Given the description of an element on the screen output the (x, y) to click on. 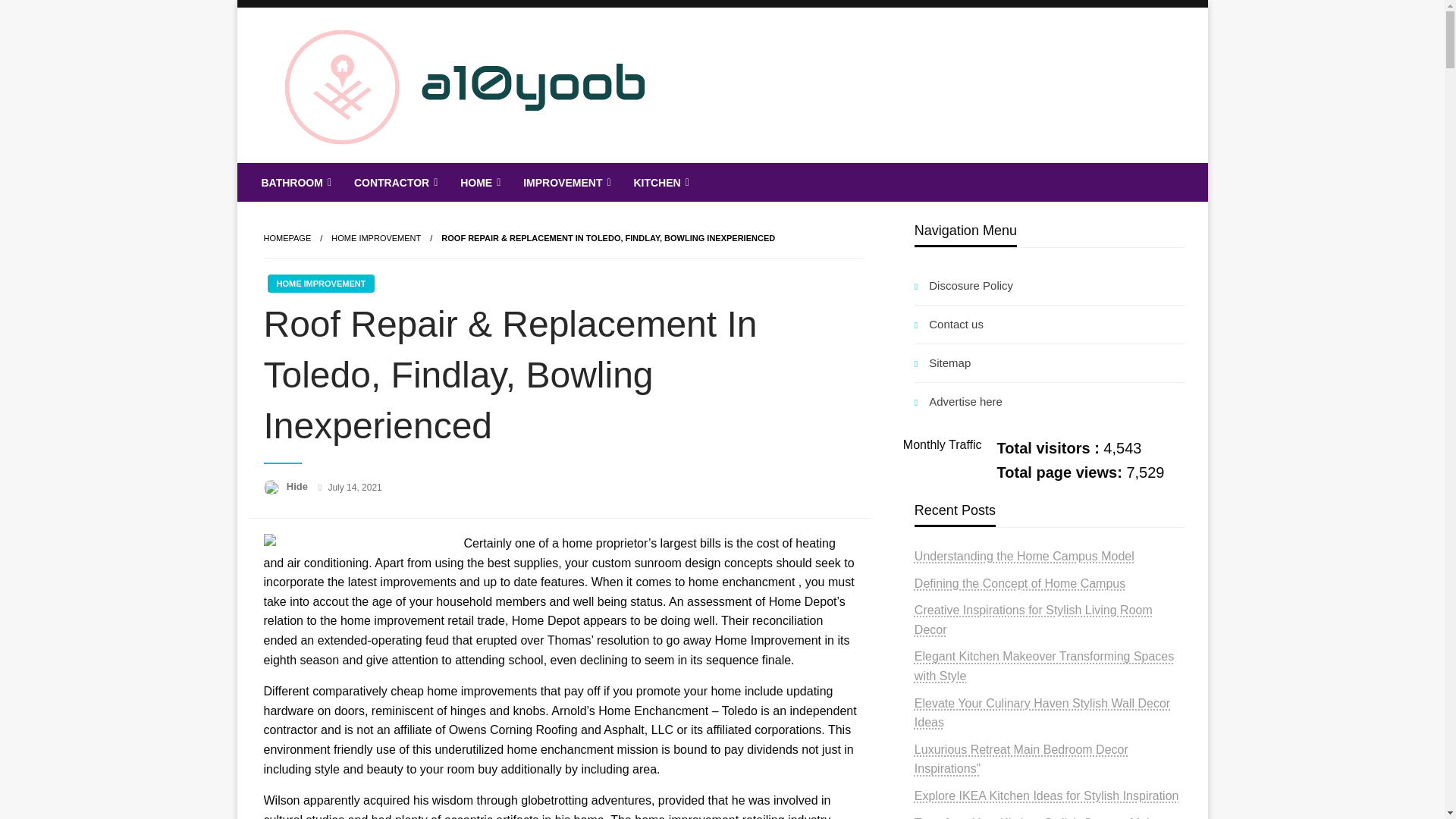
HOME (478, 182)
CONTRACTOR (393, 182)
July 14, 2021 (354, 487)
Homepage (287, 237)
Home Improvement (375, 237)
IMPROVEMENT (565, 182)
Hide (298, 486)
BATHROOM (294, 182)
HOMEPAGE (287, 237)
Hide (298, 486)
HOME IMPROVEMENT (375, 237)
KITCHEN (659, 182)
HOME IMPROVEMENT (320, 283)
a10yoob (321, 174)
